Given the description of an element on the screen output the (x, y) to click on. 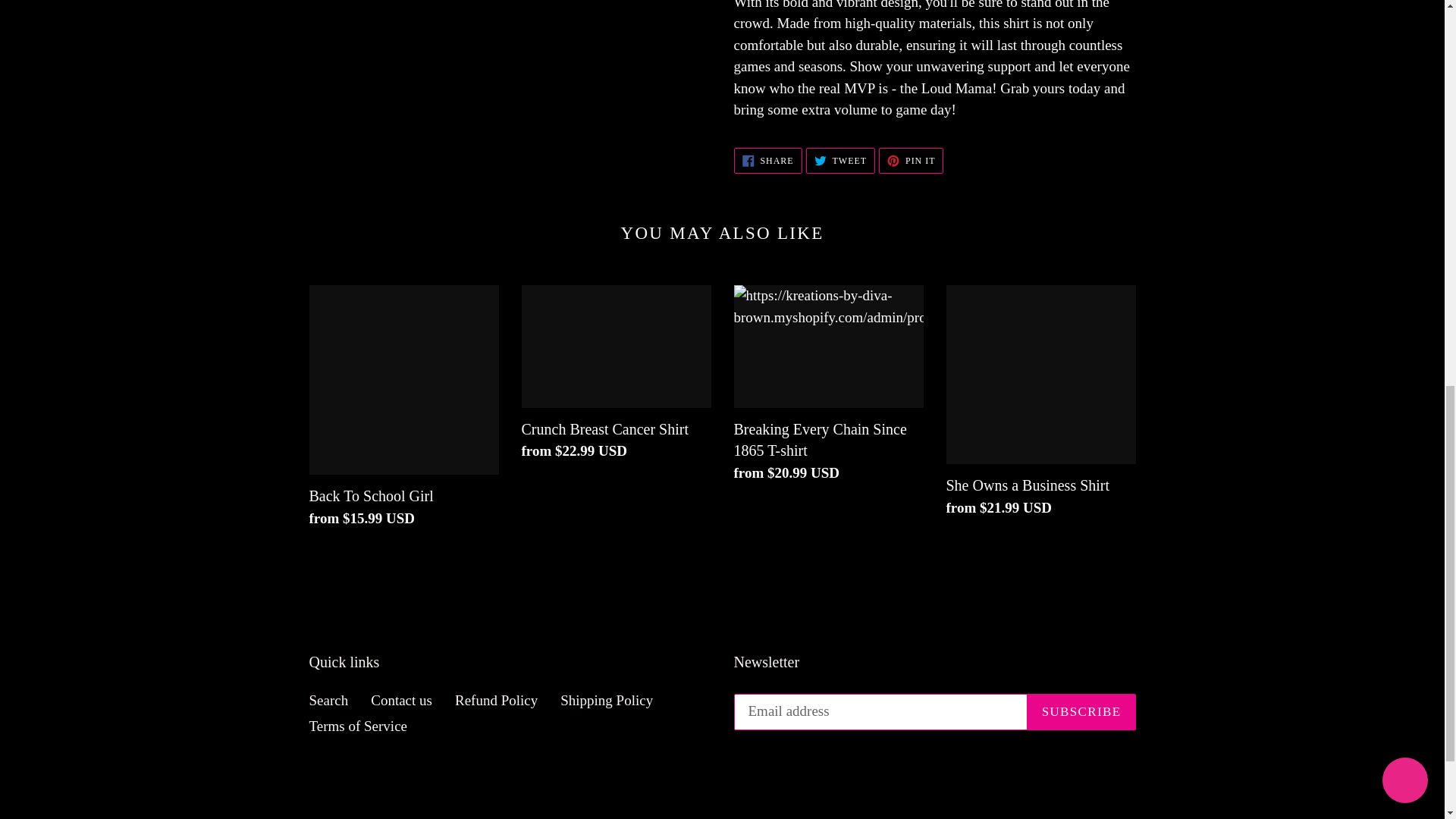
Crunch Breast Cancer Shirt (840, 160)
Shipping Policy (616, 376)
Contact us (767, 160)
Search (606, 700)
Terms of Service (401, 700)
Breaking Every Chain Since 1865 T-shirt (328, 700)
Refund Policy (357, 725)
